Given the description of an element on the screen output the (x, y) to click on. 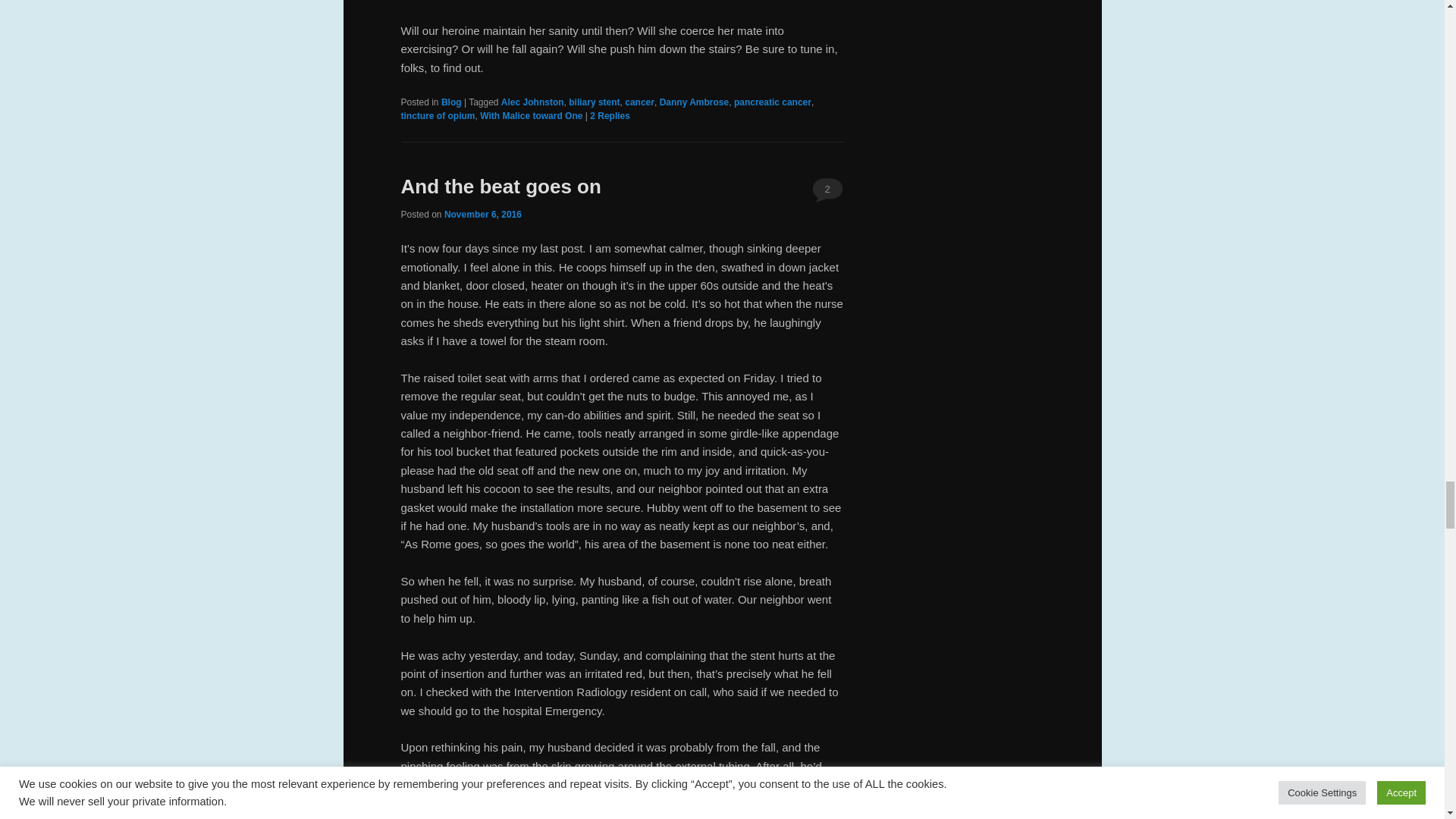
1:27 pm (482, 214)
